Given the description of an element on the screen output the (x, y) to click on. 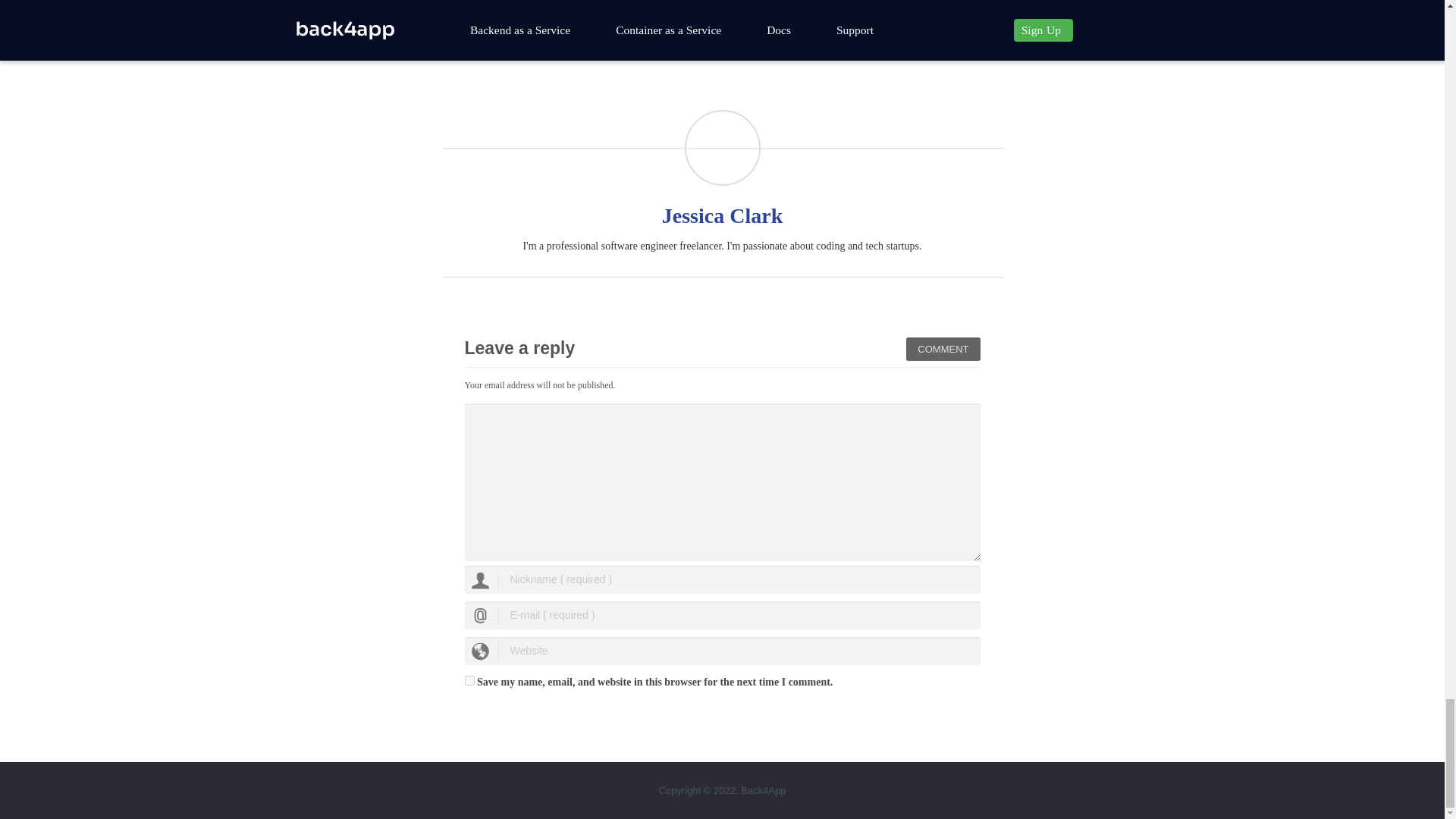
Website (721, 651)
yes (469, 680)
